Given the description of an element on the screen output the (x, y) to click on. 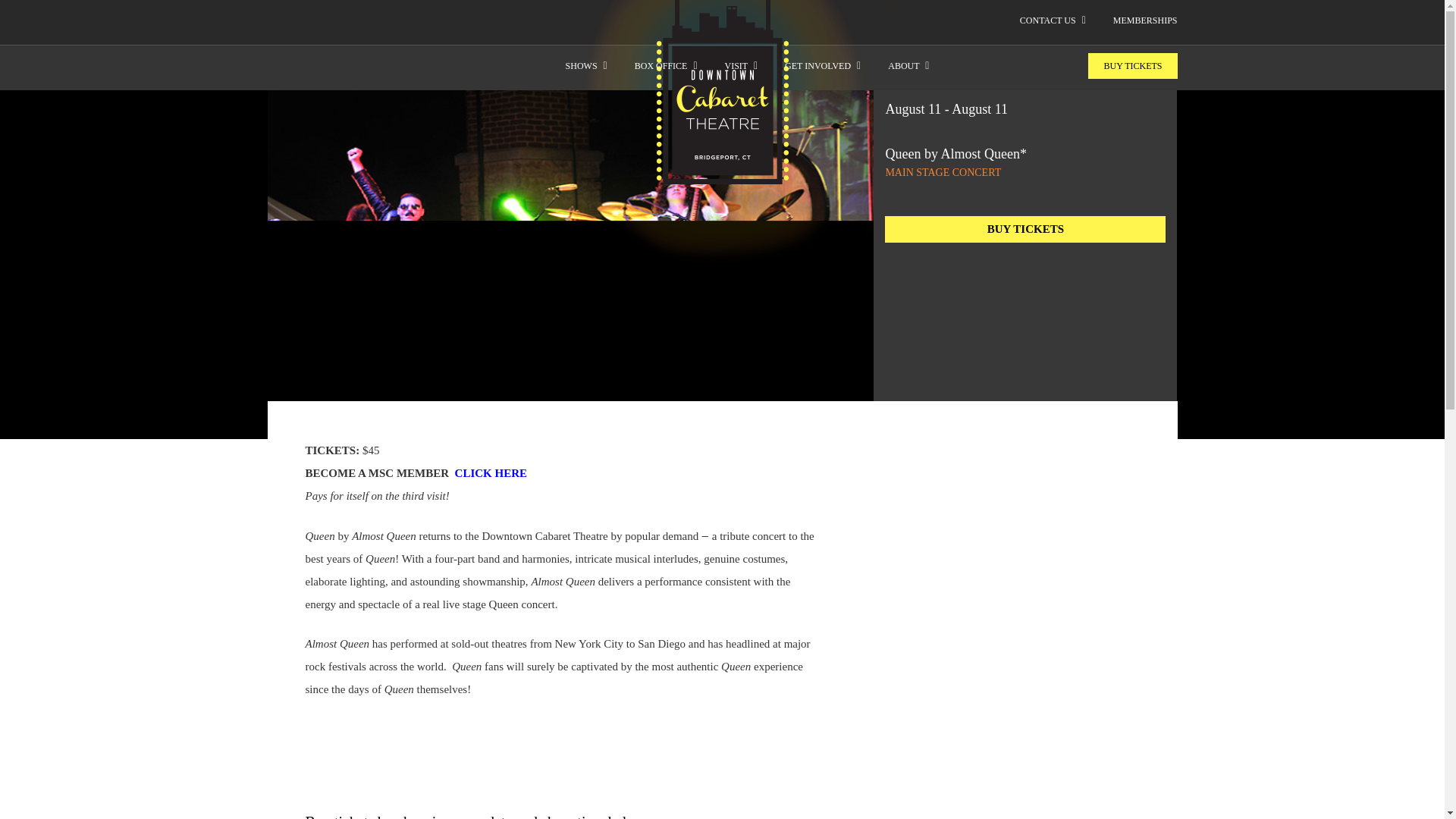
MEMBERSHIPS (1145, 20)
BOX OFFICE (660, 65)
GET INVOLVED (817, 65)
SHOWS (581, 65)
CONTACT US (1047, 20)
VISIT (736, 65)
